Given the description of an element on the screen output the (x, y) to click on. 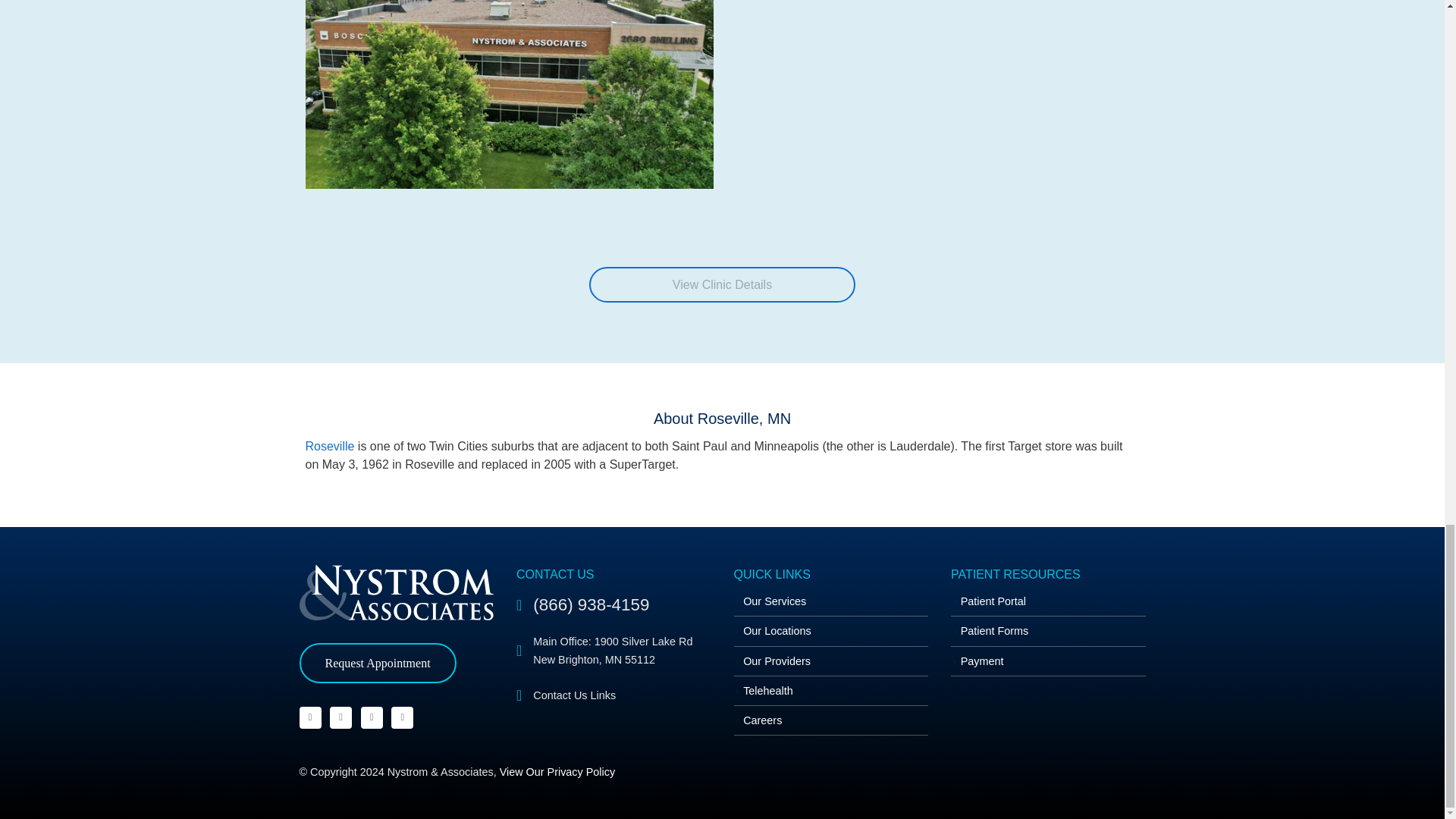
Contact Us (613, 693)
LinkedIn (402, 717)
Facebook (309, 717)
Clinic Information (722, 284)
nystrom-white-logo-280x85 (395, 592)
Instagram (371, 717)
Youtube (341, 717)
